Given the description of an element on the screen output the (x, y) to click on. 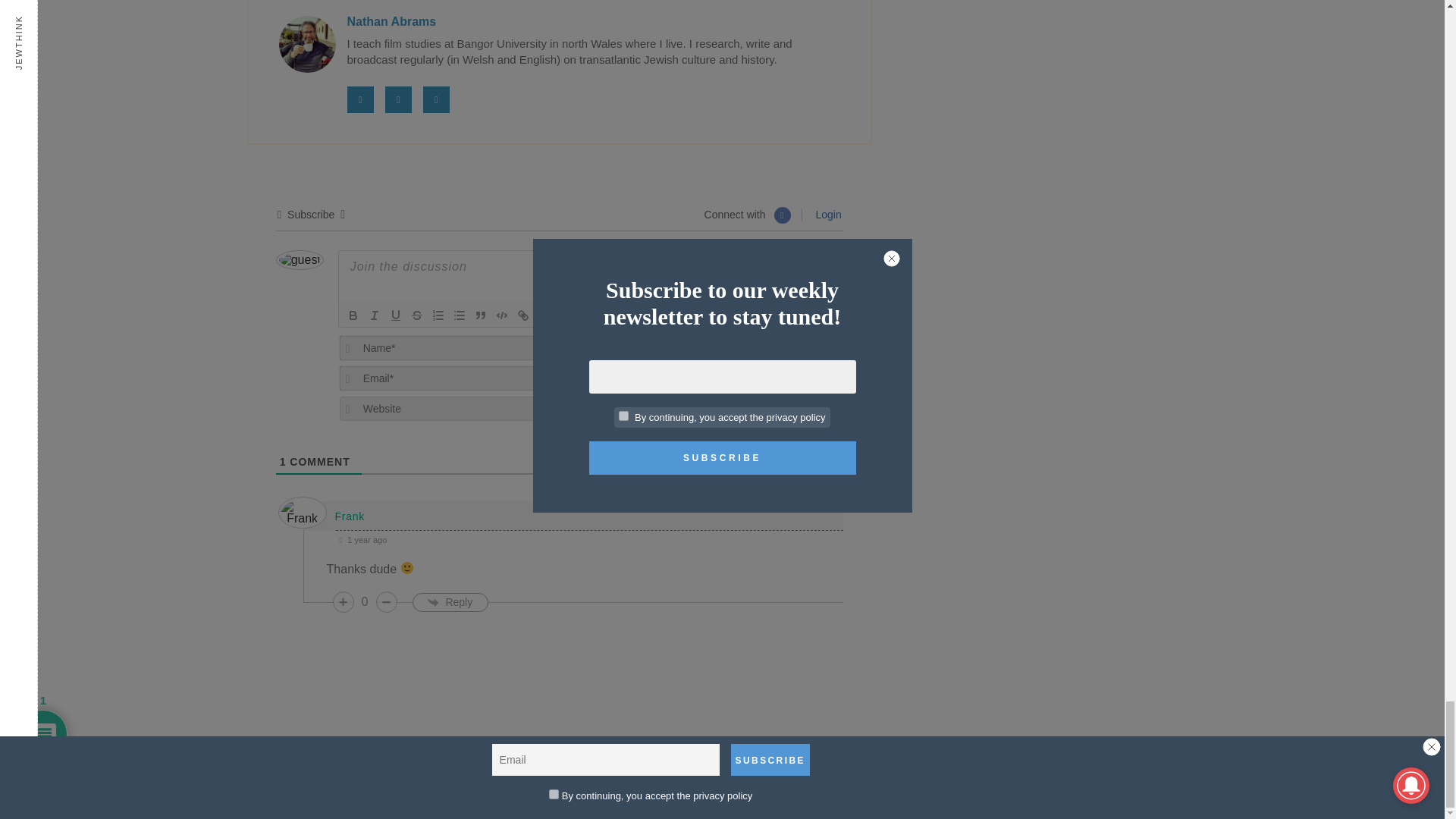
Ordered List (438, 315)
Post Comment (777, 358)
Code Block (502, 315)
Source Code (542, 315)
Underline (395, 315)
Strike (417, 315)
Link (523, 315)
Spoiler (563, 315)
Blockquote (481, 315)
Italic (374, 315)
Unordered List (459, 315)
Posts by Nathan Abrams (391, 21)
Bold (353, 315)
